Given the description of an element on the screen output the (x, y) to click on. 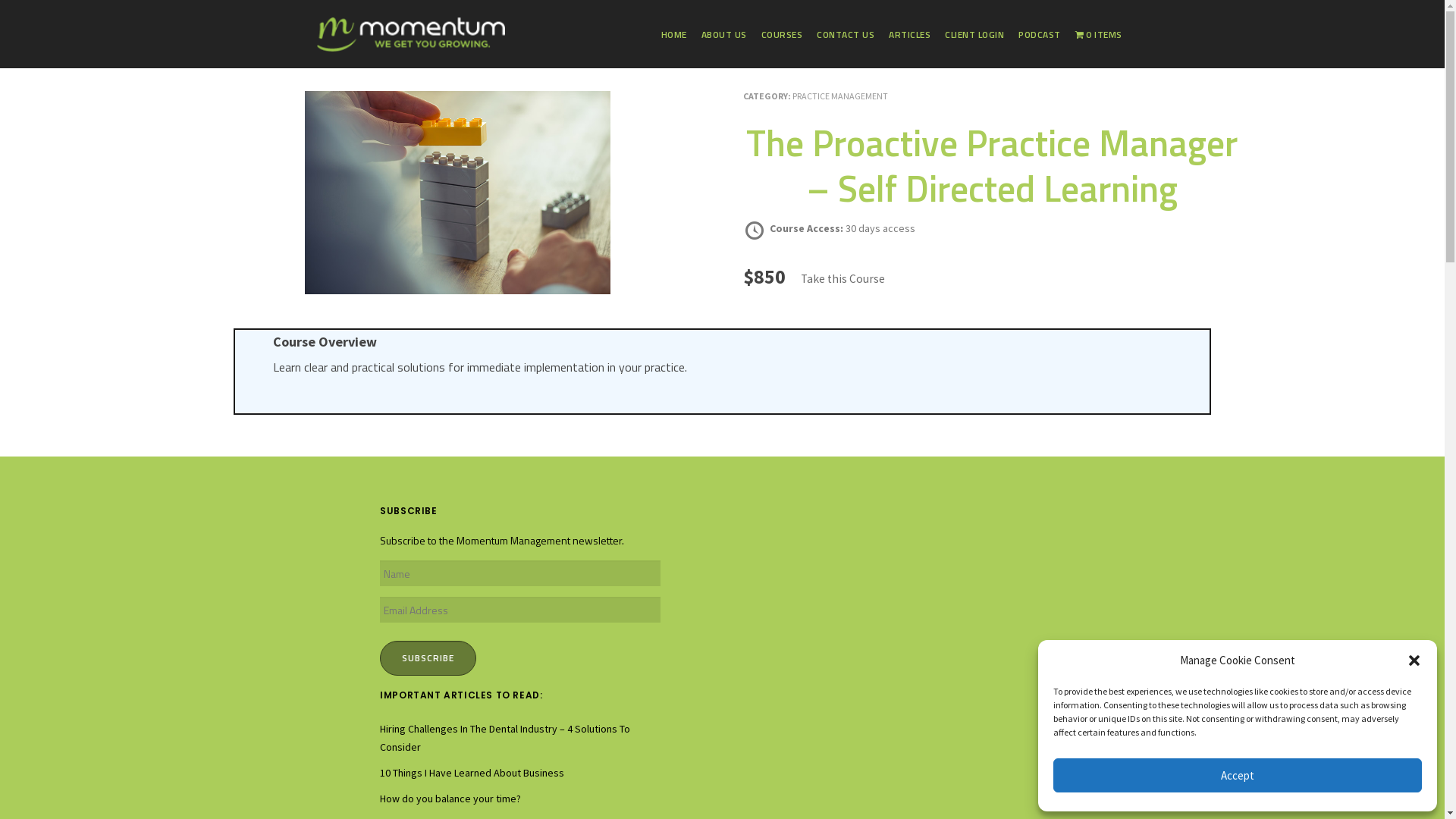
10 Things I Have Learned About Business Element type: text (471, 772)
COURSES Element type: text (782, 34)
About Us Element type: text (56, 616)
CONTACT US Element type: text (845, 34)
HOME Element type: text (674, 34)
PODCAST Element type: text (1039, 34)
Courses Element type: text (54, 796)
ABOUT US Element type: text (723, 34)
ARTICLES Element type: text (909, 34)
Take this Course Element type: text (842, 278)
Accept Element type: text (1237, 775)
Confirmation Element type: text (64, 745)
CLIENT LOGIN Element type: text (974, 34)
Cart Element type: text (45, 667)
Articles Element type: text (53, 642)
#1048 (no title) Element type: text (69, 590)
Contact Us Element type: text (60, 771)
0 ITEMS Element type: text (1098, 34)
How do you balance your time? Element type: text (449, 798)
Subscribe Element type: text (427, 657)
Check Out Page Element type: text (71, 693)
